Given the description of an element on the screen output the (x, y) to click on. 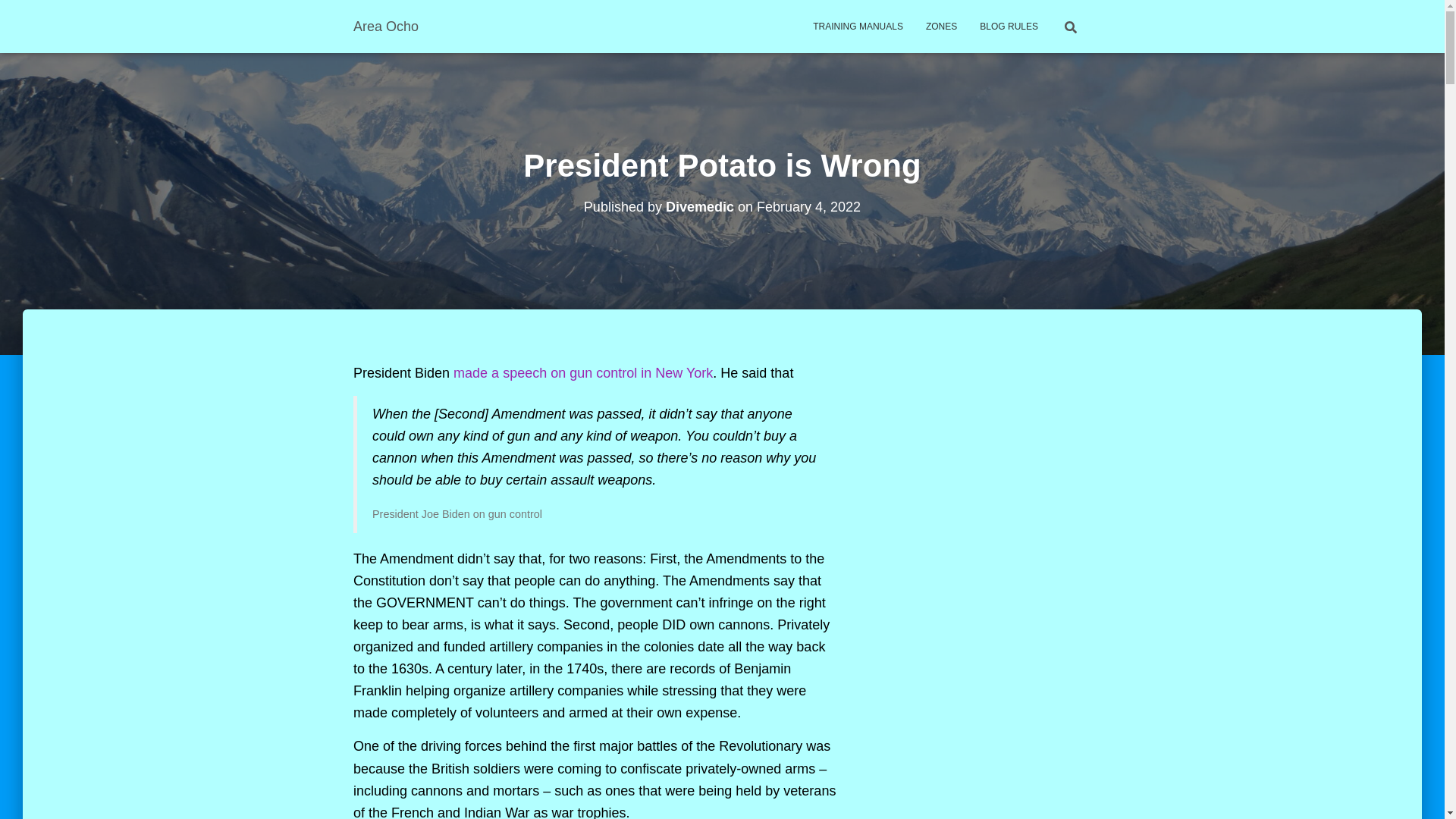
Blog Rules (1008, 26)
Area Ocho (385, 26)
Zones (941, 26)
Training Manuals (858, 26)
Area Ocho (385, 26)
BLOG RULES (1008, 26)
ZONES (941, 26)
TRAINING MANUALS (858, 26)
made a speech on gun control in New York (582, 372)
Divemedic (699, 206)
